Given the description of an element on the screen output the (x, y) to click on. 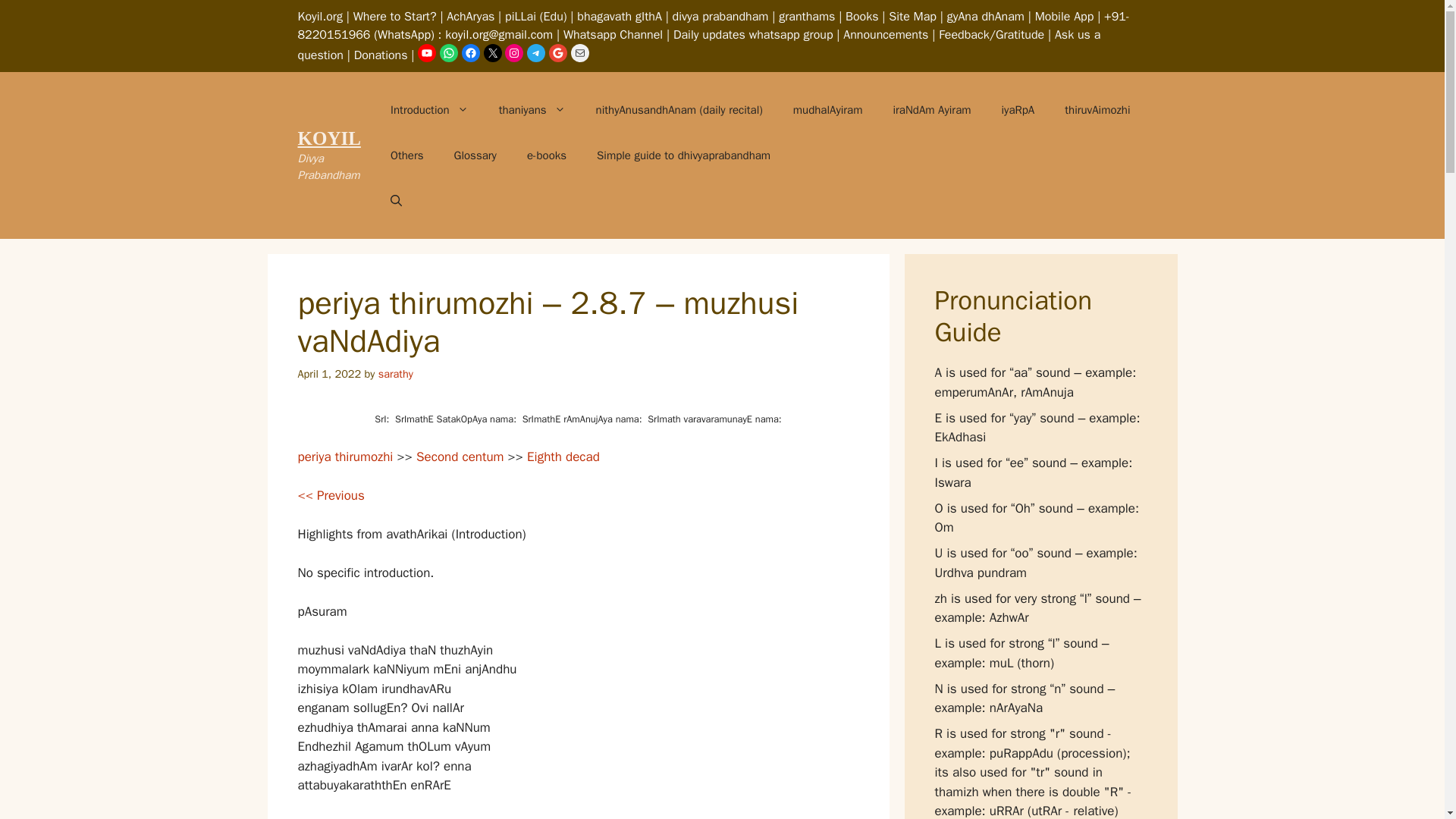
Donations (380, 55)
Whatsapp Channel (612, 34)
Site Map (912, 16)
divya prabandham (720, 16)
bhagavath gIthA (619, 16)
Telegram (535, 53)
Mobile App (1064, 16)
KOYIL (328, 137)
YouTube (426, 53)
Mail (579, 53)
